Given the description of an element on the screen output the (x, y) to click on. 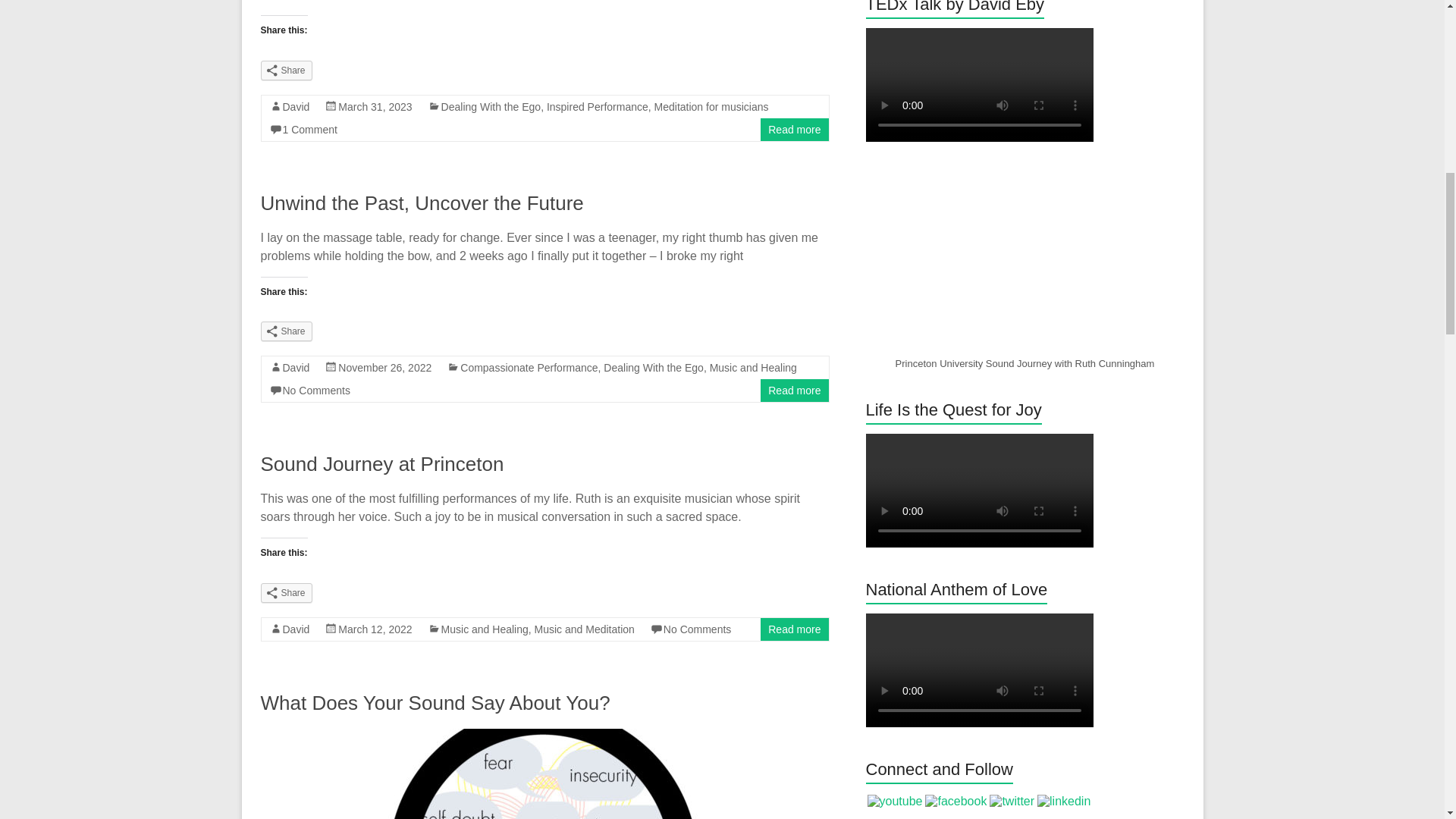
David (295, 106)
Unwind the Past, Uncover the Future (421, 202)
March 31, 2023 (374, 106)
Share (286, 70)
2:17 pm (374, 106)
